Given the description of an element on the screen output the (x, y) to click on. 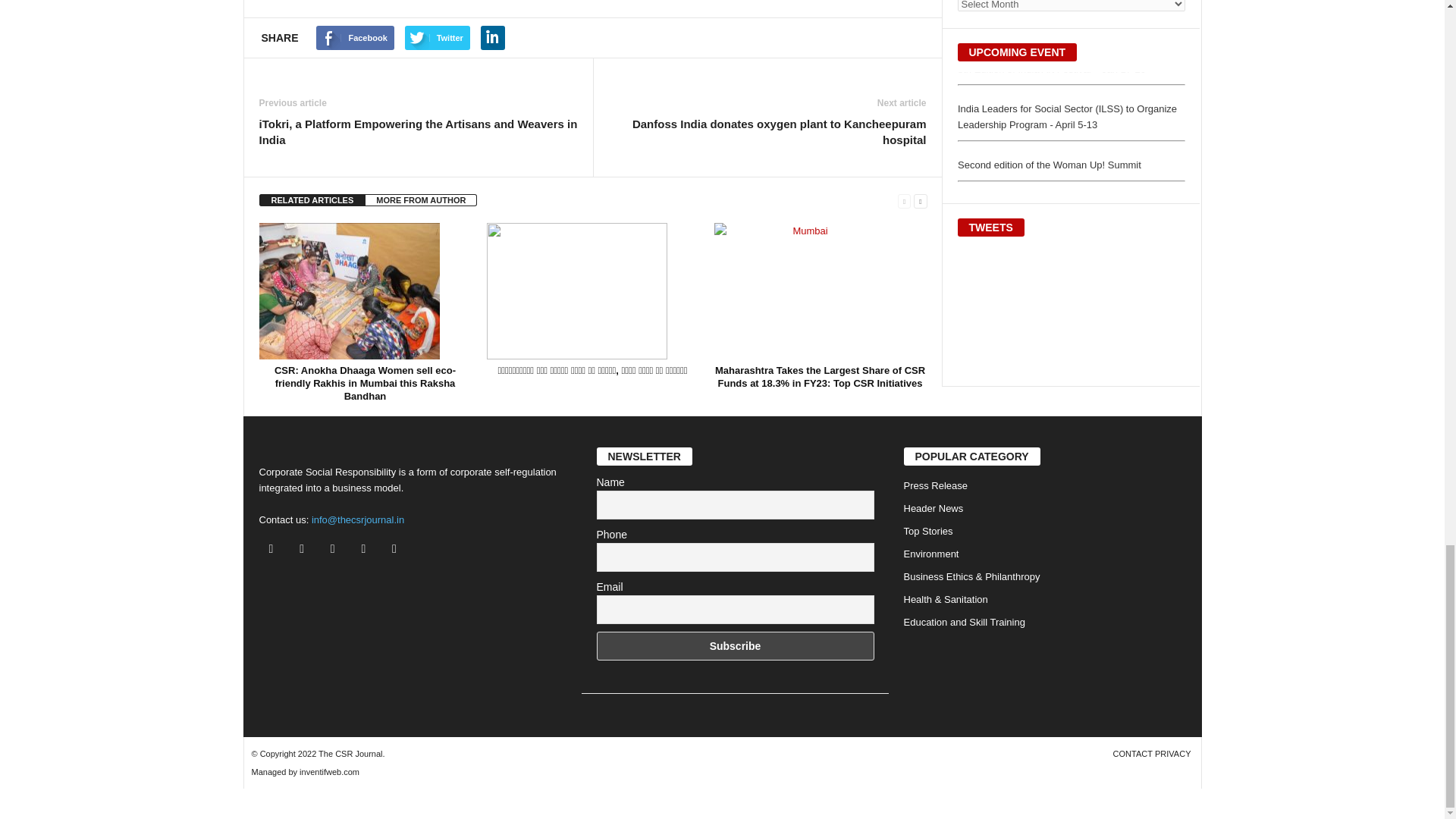
Subscribe (734, 645)
